Given the description of an element on the screen output the (x, y) to click on. 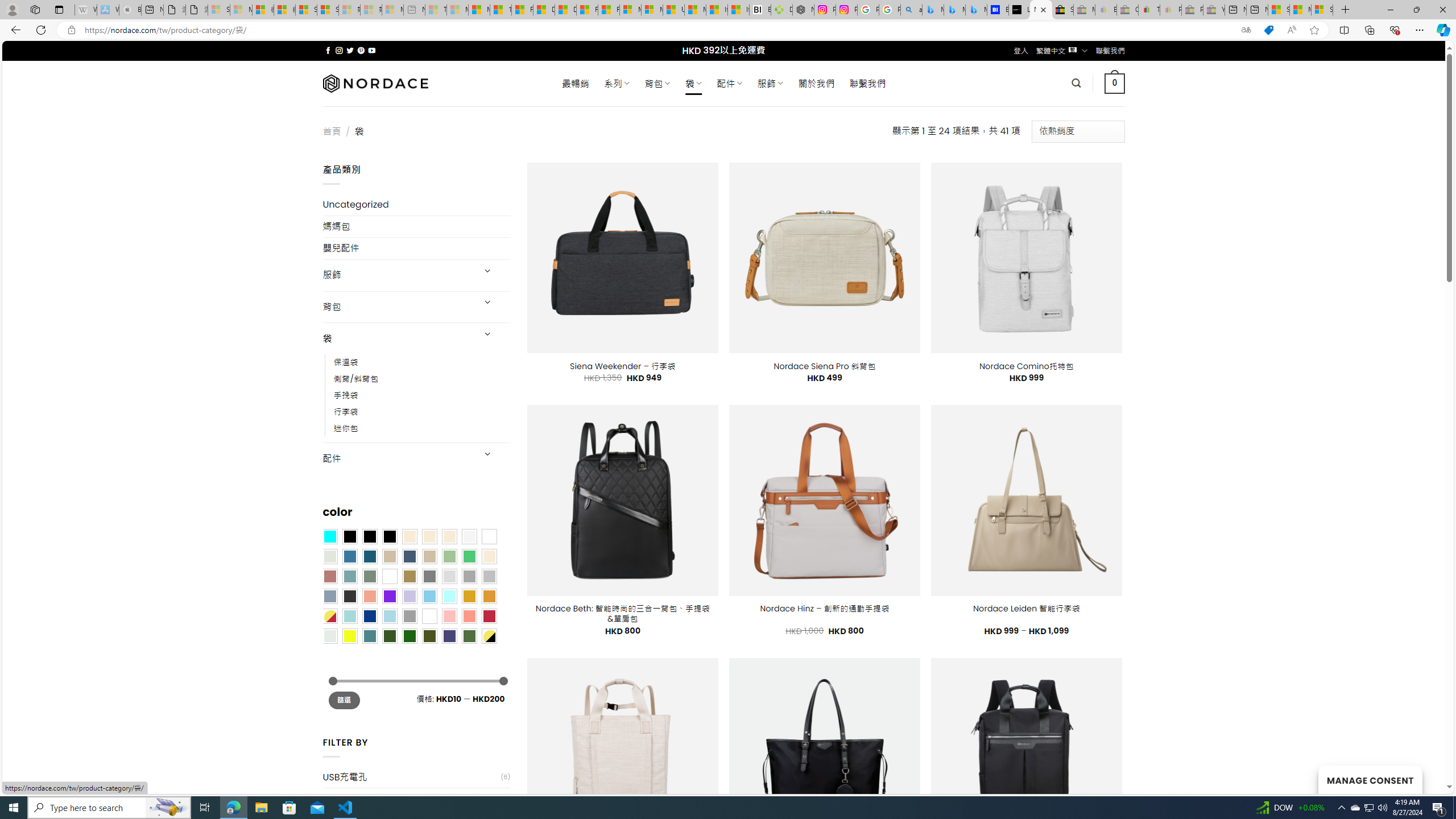
Selling on eBay | Electronics, Fashion, Home & Garden | eBay (1062, 9)
